Given the description of an element on the screen output the (x, y) to click on. 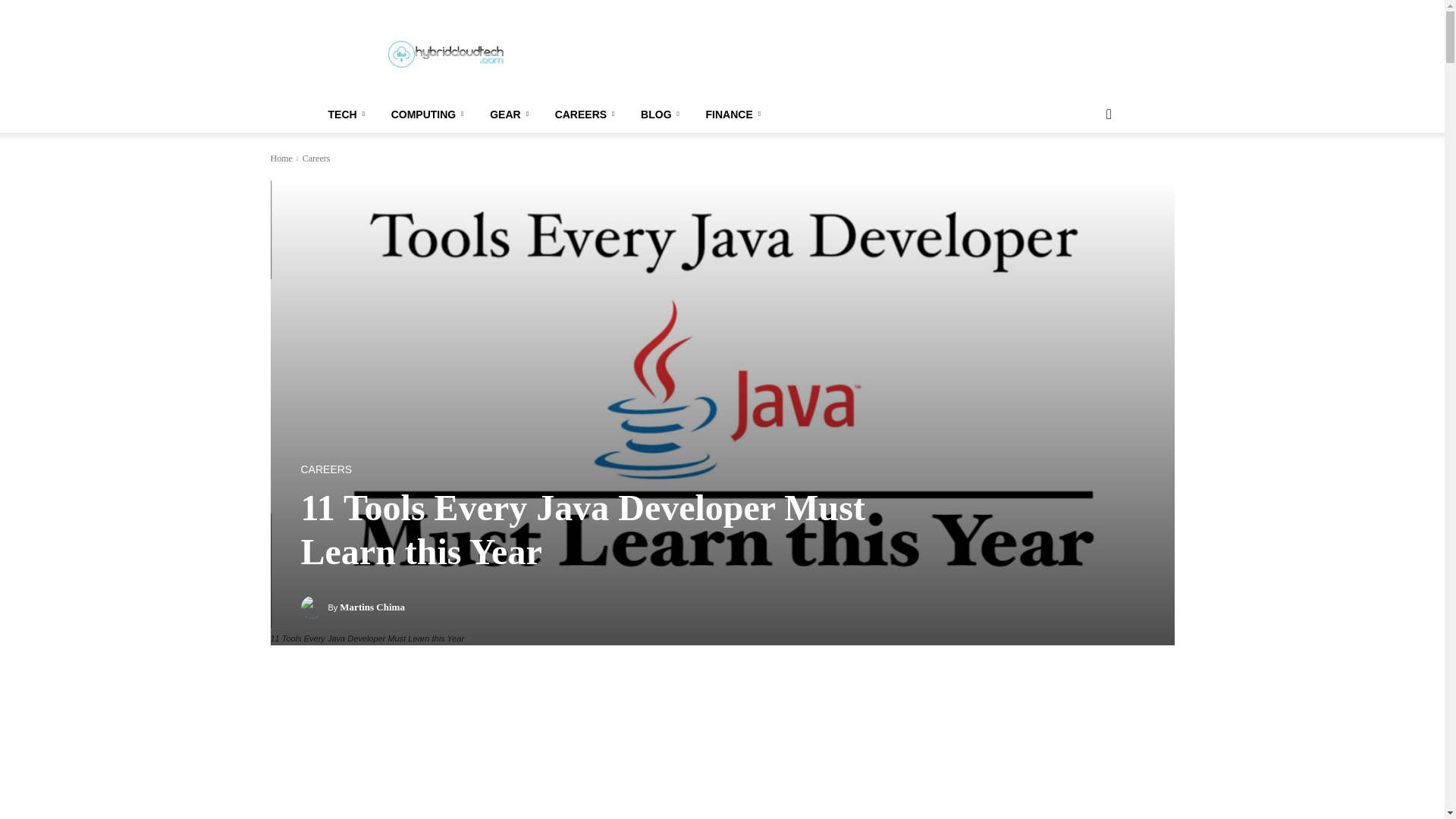
Advertisement (850, 55)
Martins Chima (313, 607)
View all posts in Careers (316, 158)
TECH (348, 114)
Advertisement (564, 753)
